Given the description of an element on the screen output the (x, y) to click on. 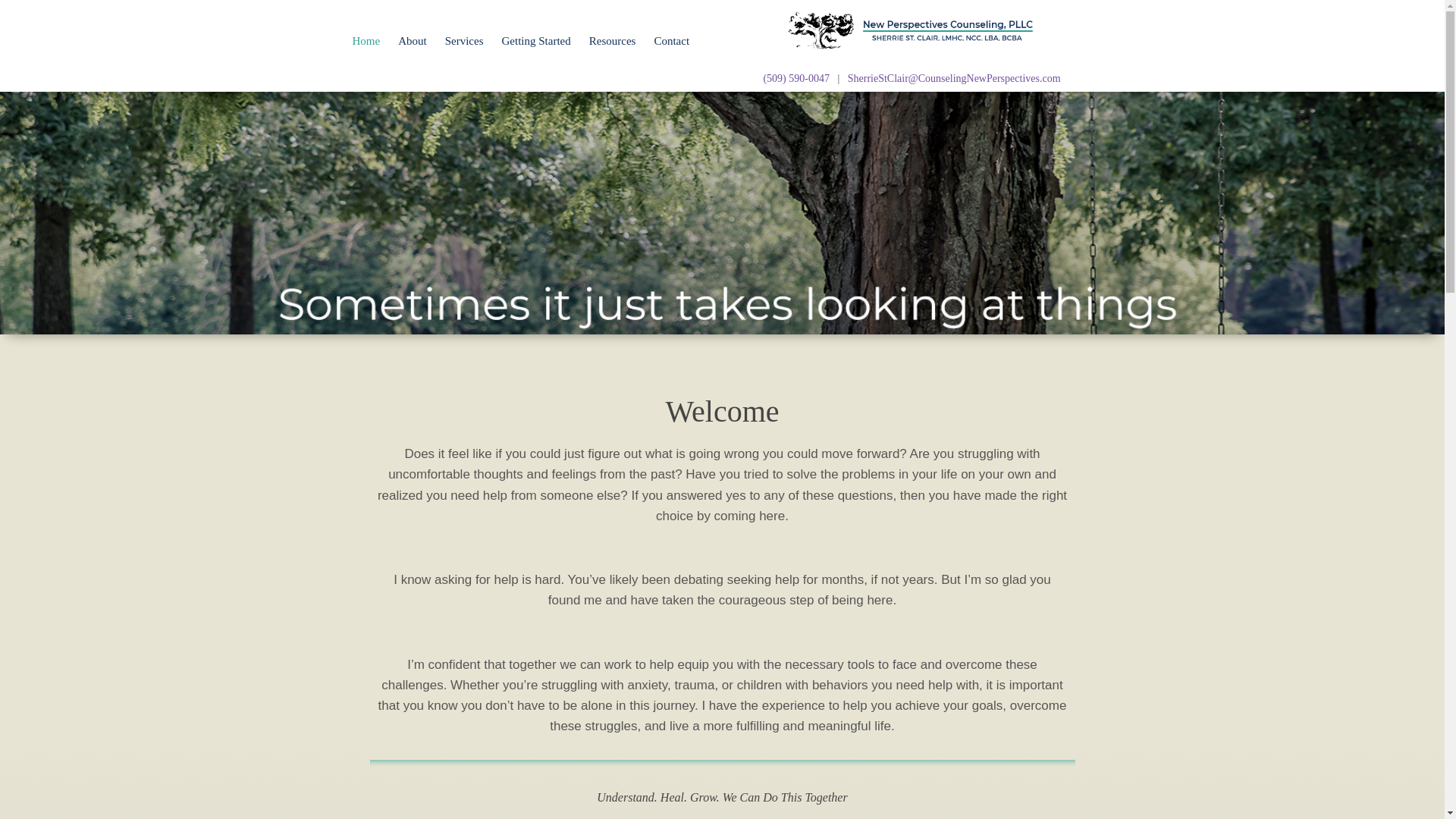
Services (464, 41)
Home (365, 41)
Getting Started (536, 41)
About (411, 41)
Resources (612, 41)
Contact (671, 41)
